Given the description of an element on the screen output the (x, y) to click on. 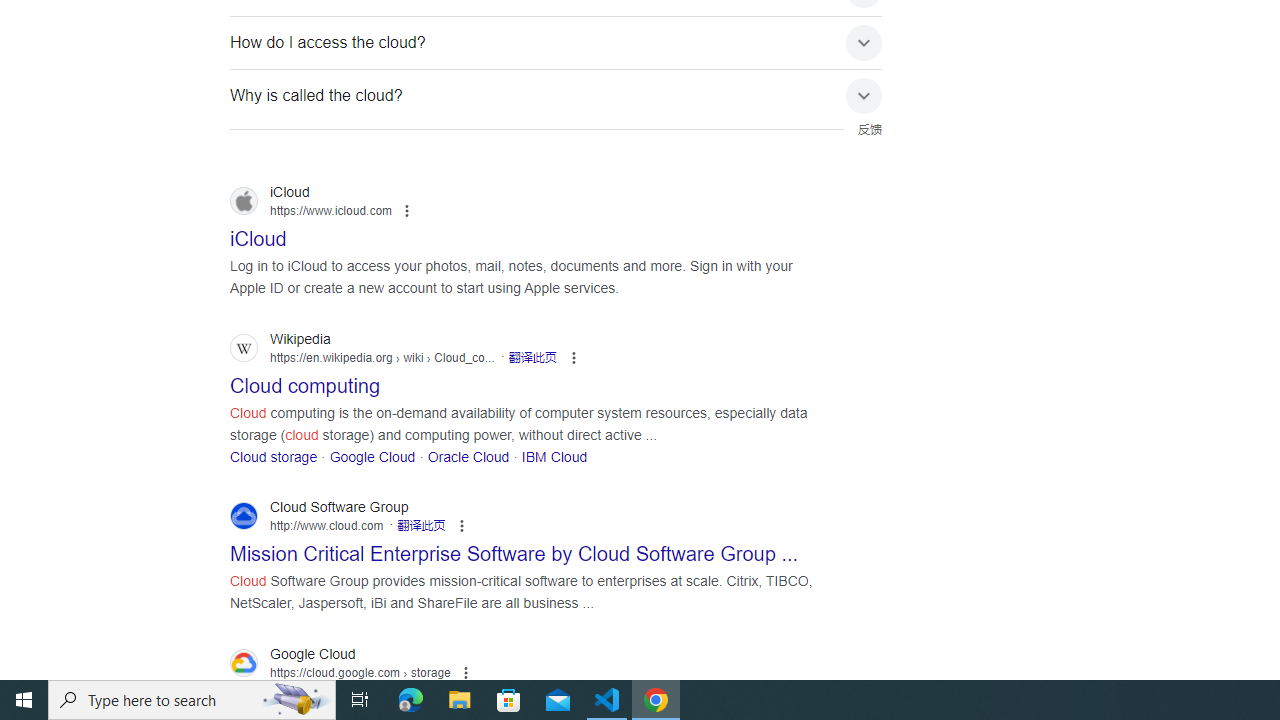
Google Cloud (372, 456)
Oracle Cloud (468, 456)
Why is called the cloud? (555, 95)
How do I access the cloud? (555, 42)
 iCloud iCloud https://www.icloud.com (258, 233)
Cloud storage (273, 456)
IBM Cloud (553, 456)
